Given the description of an element on the screen output the (x, y) to click on. 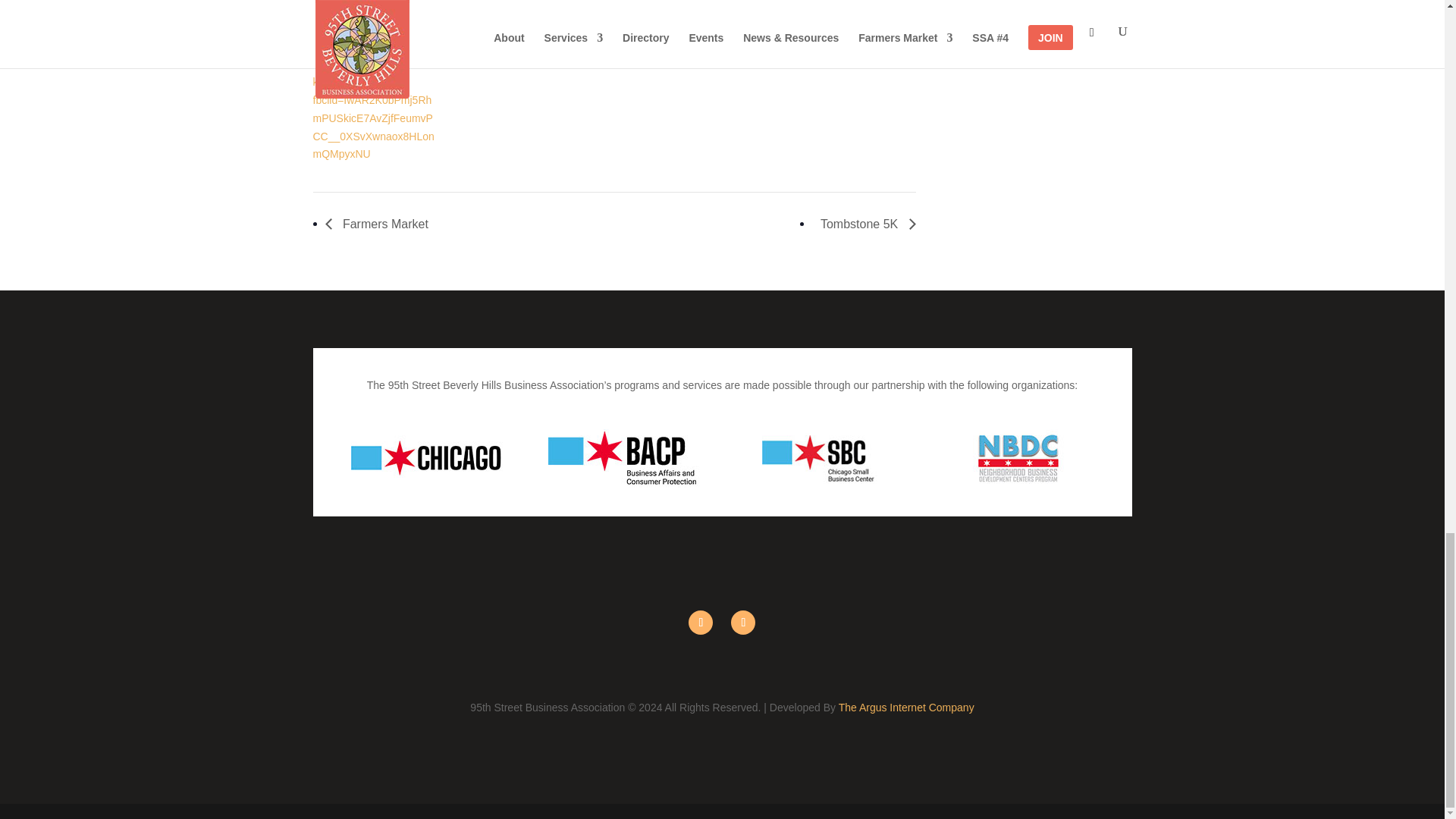
LOGO-CHICAGO-horizontal-Full (426, 458)
Follow on Instagram (742, 622)
Follow on Facebook (700, 622)
chicao-sbc-logo (820, 458)
nbdc-logo (1017, 458)
BACP-Logo-2020-Horiz-Full (622, 458)
